Given the description of an element on the screen output the (x, y) to click on. 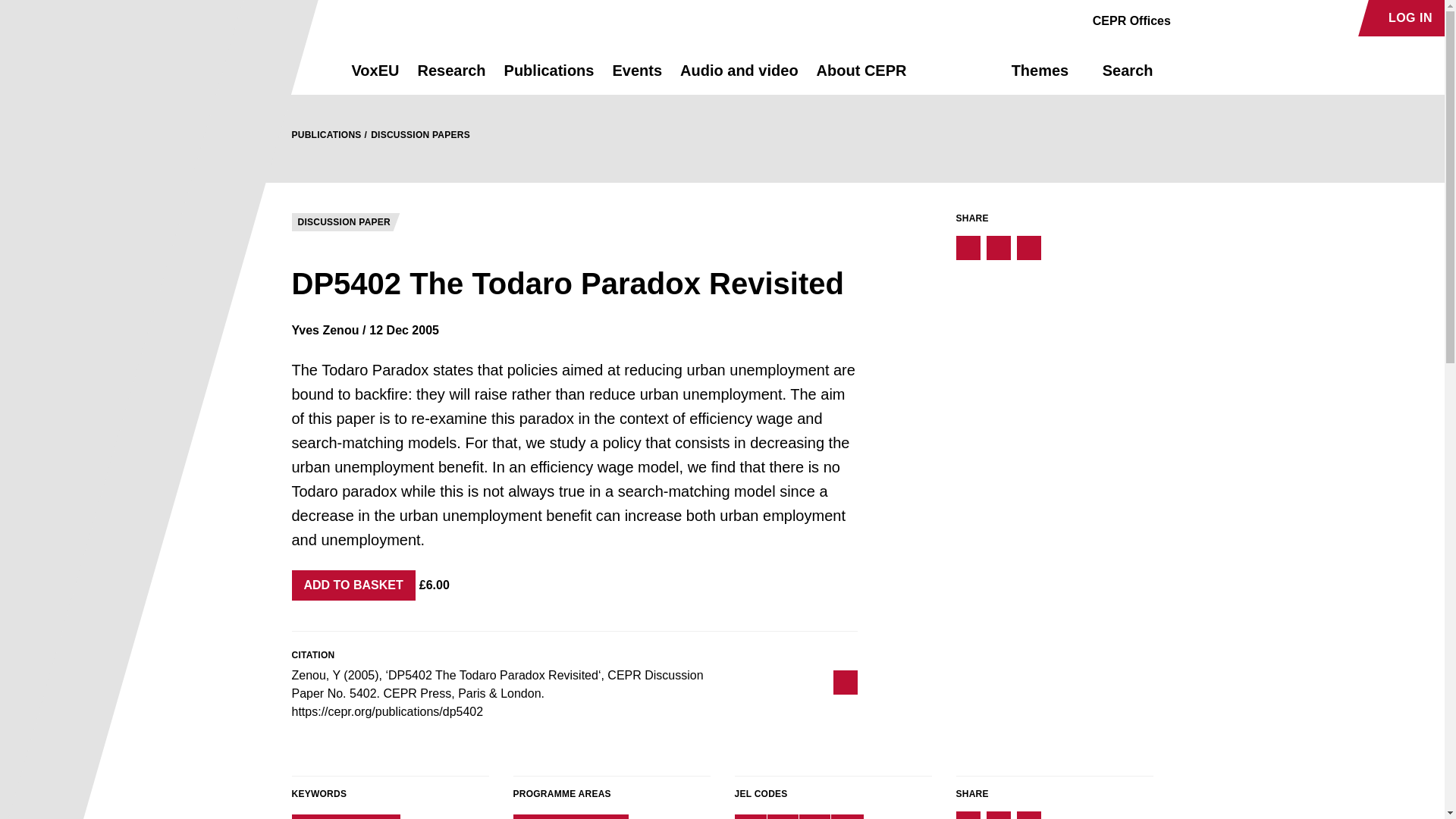
Return to the homepage (293, 69)
Publications (548, 77)
Go to Facebook profile (1190, 17)
Go to Audioboom profile (1217, 17)
VoxEU (375, 77)
Events (636, 77)
Add to basket (352, 585)
Research (450, 77)
Go to Linkedin profile (1243, 18)
